Given the description of an element on the screen output the (x, y) to click on. 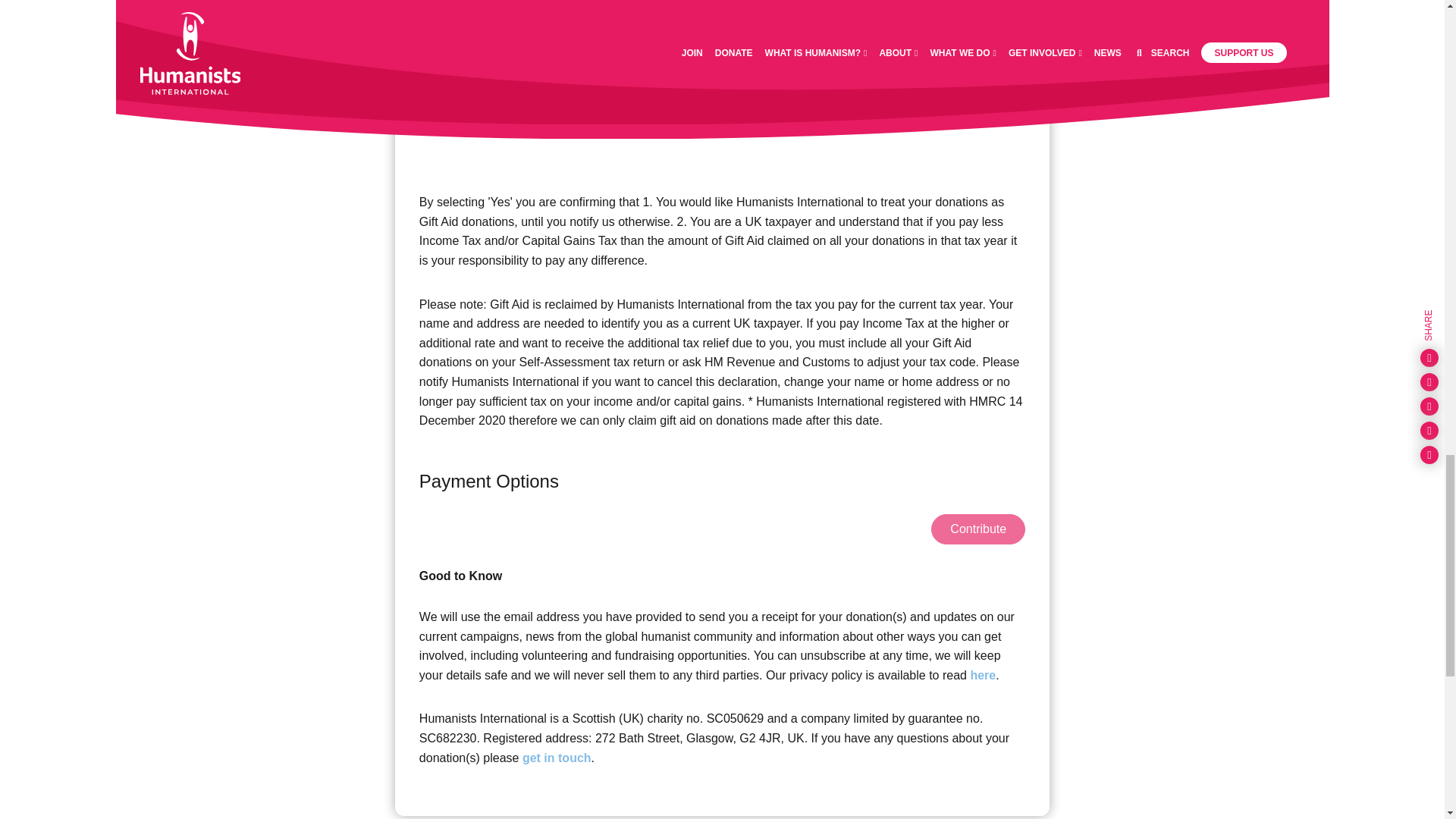
0 (730, 118)
1 (730, 35)
